Given the description of an element on the screen output the (x, y) to click on. 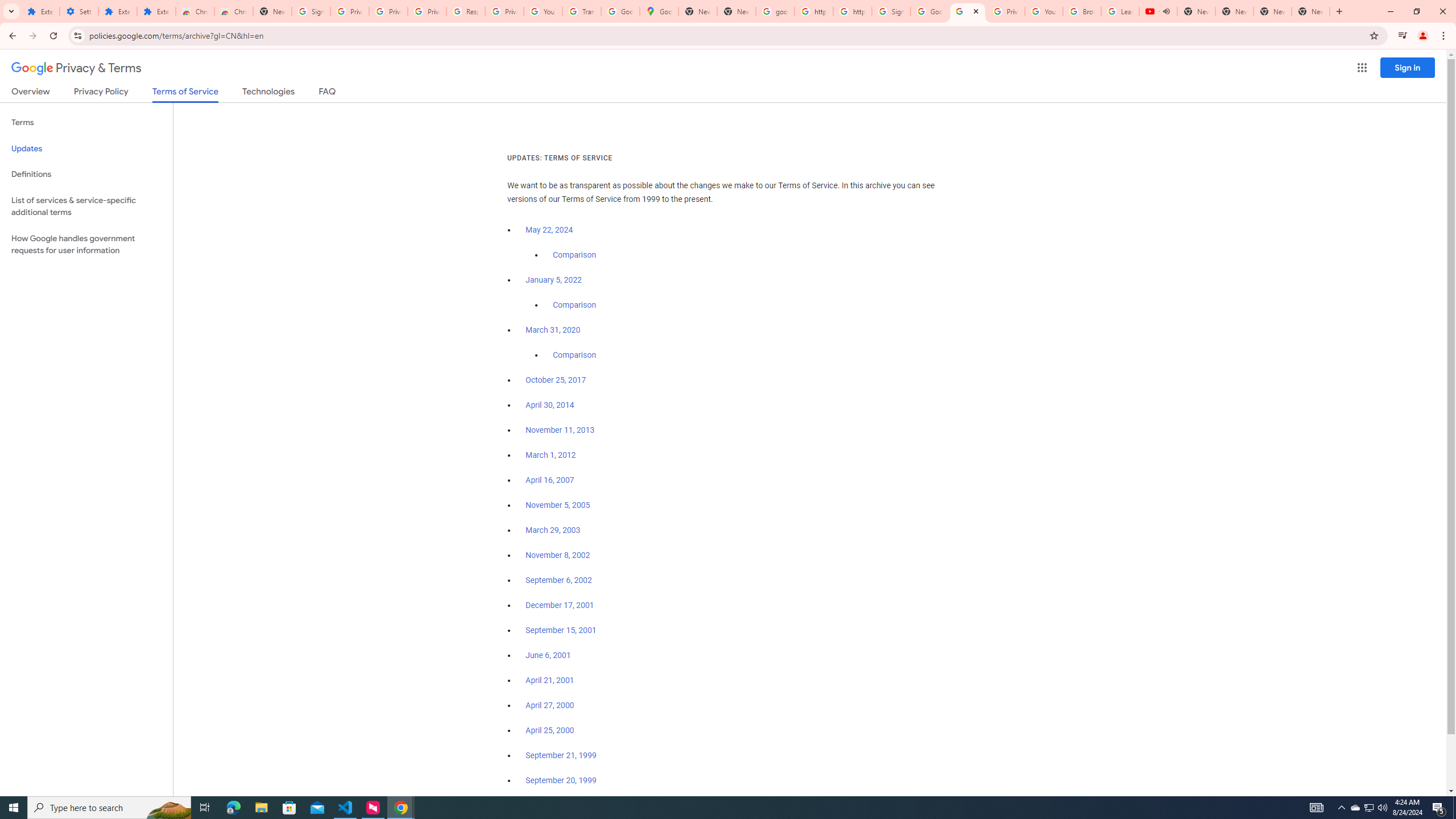
November 5, 2005 (557, 505)
New Tab (272, 11)
List of services & service-specific additional terms (86, 206)
YouTube (542, 11)
Sign in - Google Accounts (310, 11)
